Given the description of an element on the screen output the (x, y) to click on. 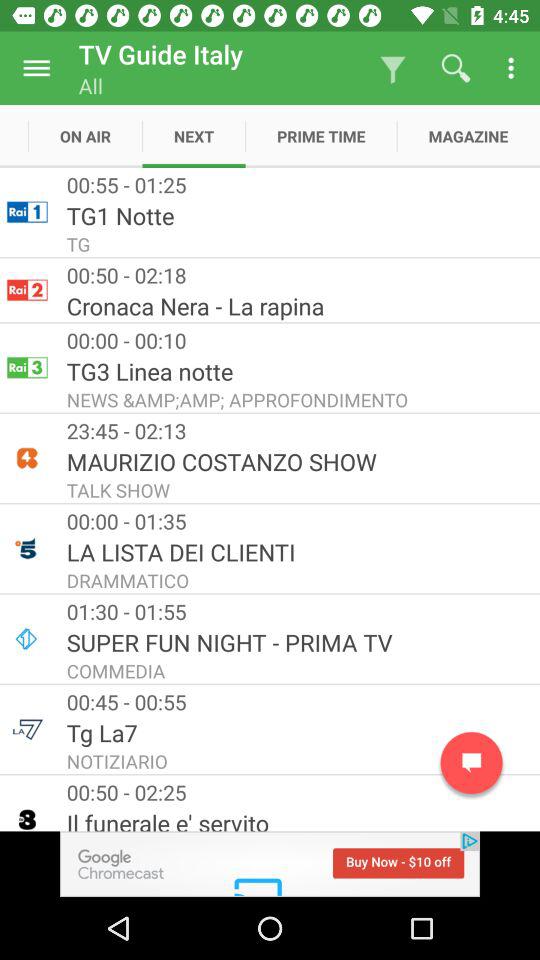
advertisement (270, 864)
